Given the description of an element on the screen output the (x, y) to click on. 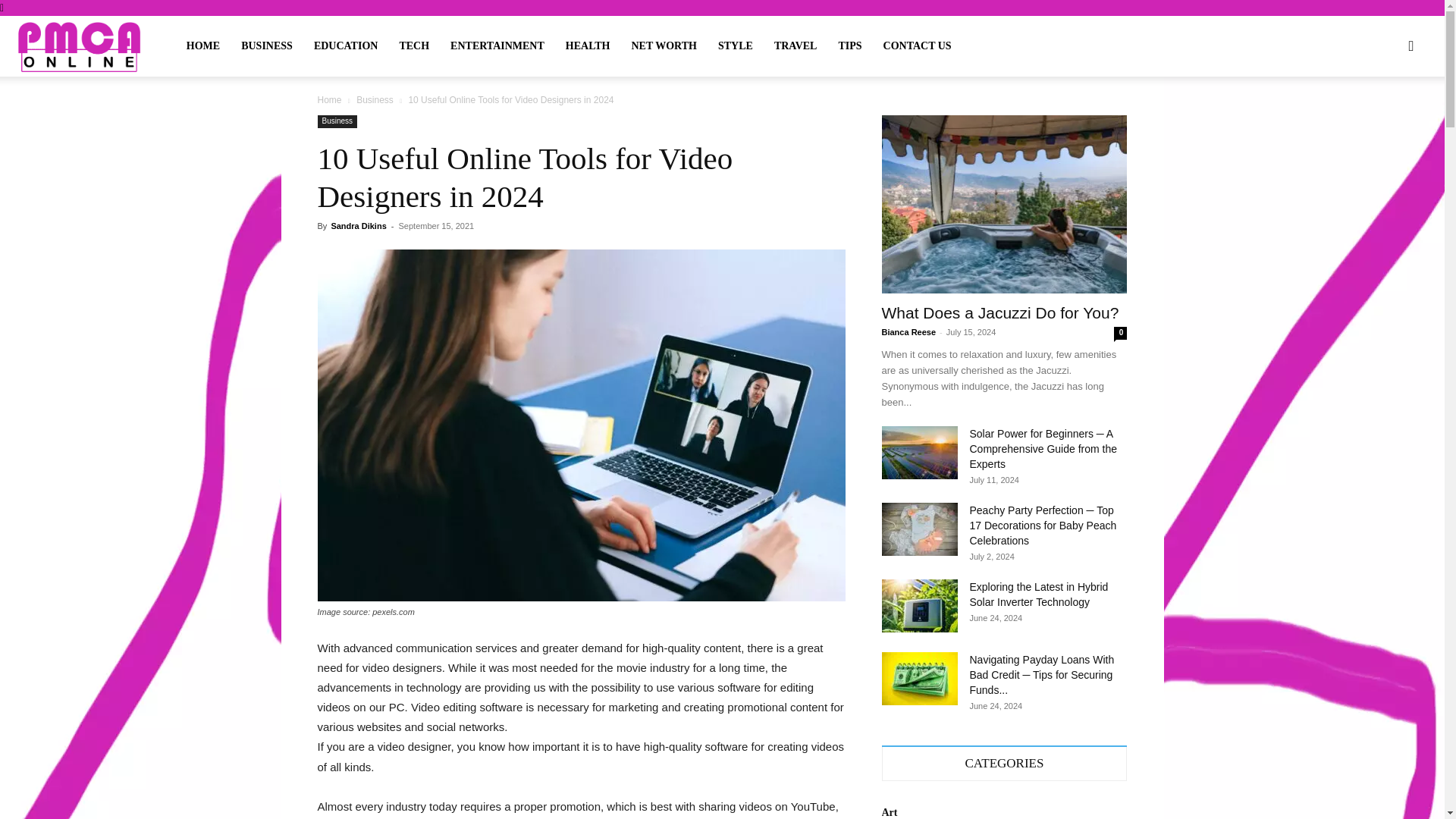
STYLE (734, 45)
EDUCATION (345, 45)
HOME (203, 45)
HEALTH (587, 45)
Search (1379, 119)
TRAVEL (795, 45)
BUSINESS (266, 45)
Business (374, 100)
View all posts in Business (374, 100)
PMCAOnline (79, 46)
ENTERTAINMENT (496, 45)
Sandra Dikins (357, 225)
Business (336, 121)
NET WORTH (663, 45)
Home (328, 100)
